Given the description of an element on the screen output the (x, y) to click on. 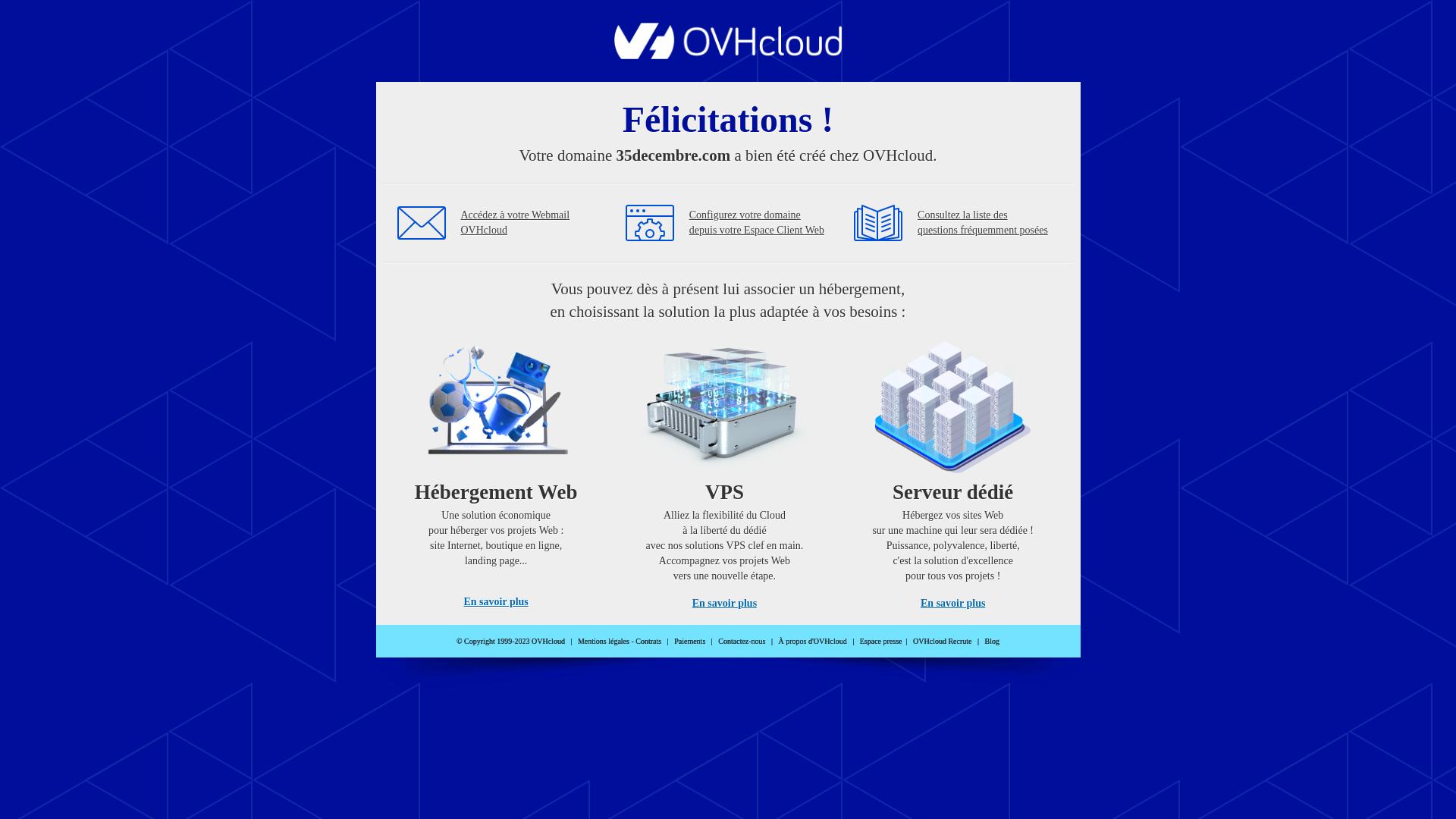
Blog Element type: text (992, 641)
Contactez-nous Element type: text (741, 641)
En savoir plus Element type: text (724, 602)
OVHcloud Element type: hover (727, 54)
Paiements Element type: text (689, 641)
En savoir plus Element type: text (495, 601)
Configurez votre domaine
depuis votre Espace Client Web Element type: text (756, 222)
OVHcloud Recrute Element type: text (942, 641)
En savoir plus Element type: text (952, 602)
Espace presse Element type: text (880, 641)
VPS Element type: hover (724, 469)
